Given the description of an element on the screen output the (x, y) to click on. 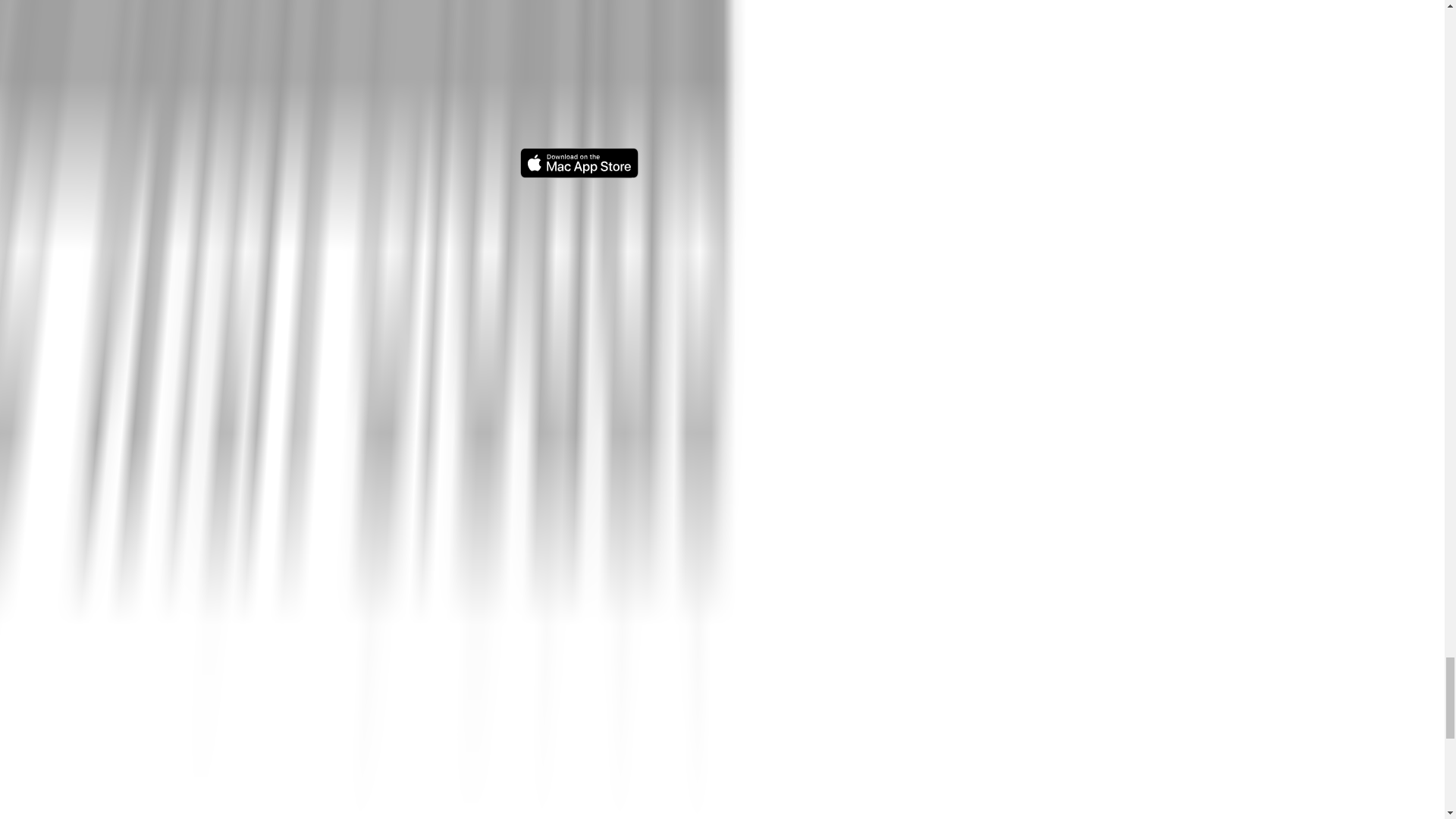
Sidebar (366, 532)
Introduction (377, 701)
Introduction (377, 596)
Introduction (565, 489)
Habit Charts (567, 638)
Introduction (565, 596)
Pomodoro (761, 680)
Welcome (371, 489)
Note Lists (561, 511)
Time Blocking (771, 659)
Eisenhower Matrix (783, 744)
Benefits (755, 532)
Challenges (763, 553)
Get Things Done (779, 723)
Eat That Frog (770, 765)
